Given the description of an element on the screen output the (x, y) to click on. 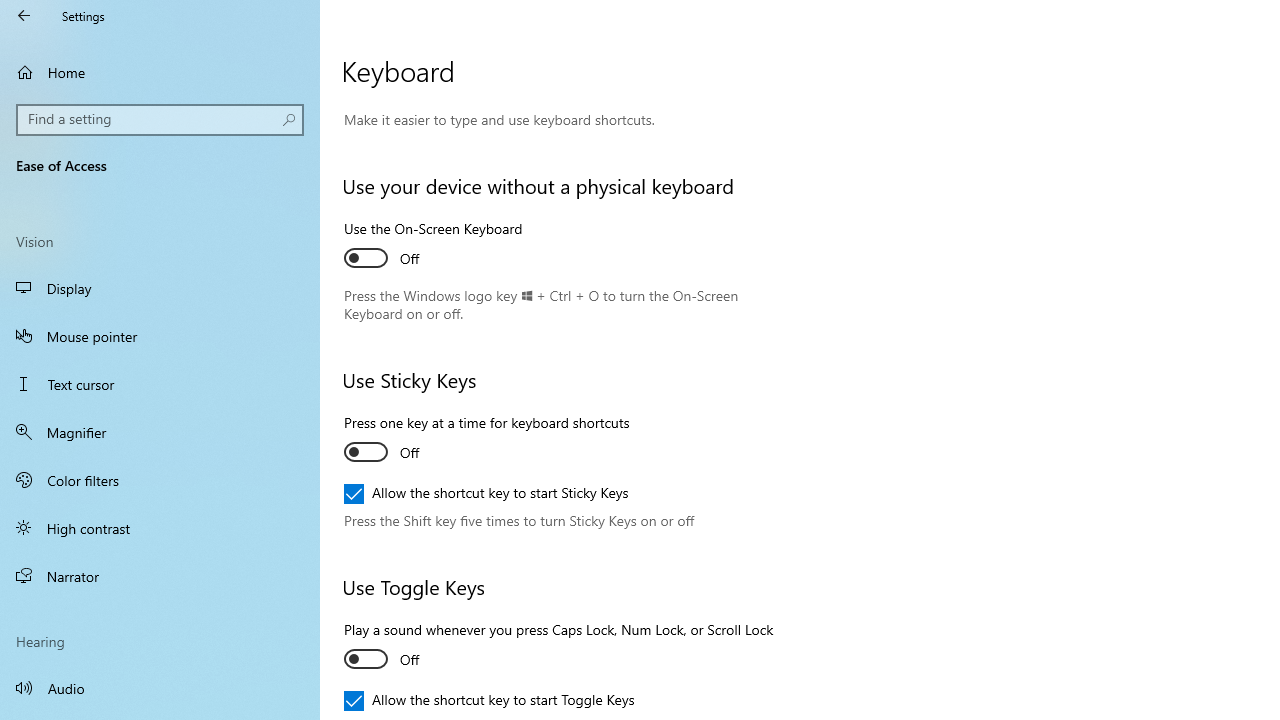
Allow the shortcut key to start Toggle Keys (489, 700)
